Given the description of an element on the screen output the (x, y) to click on. 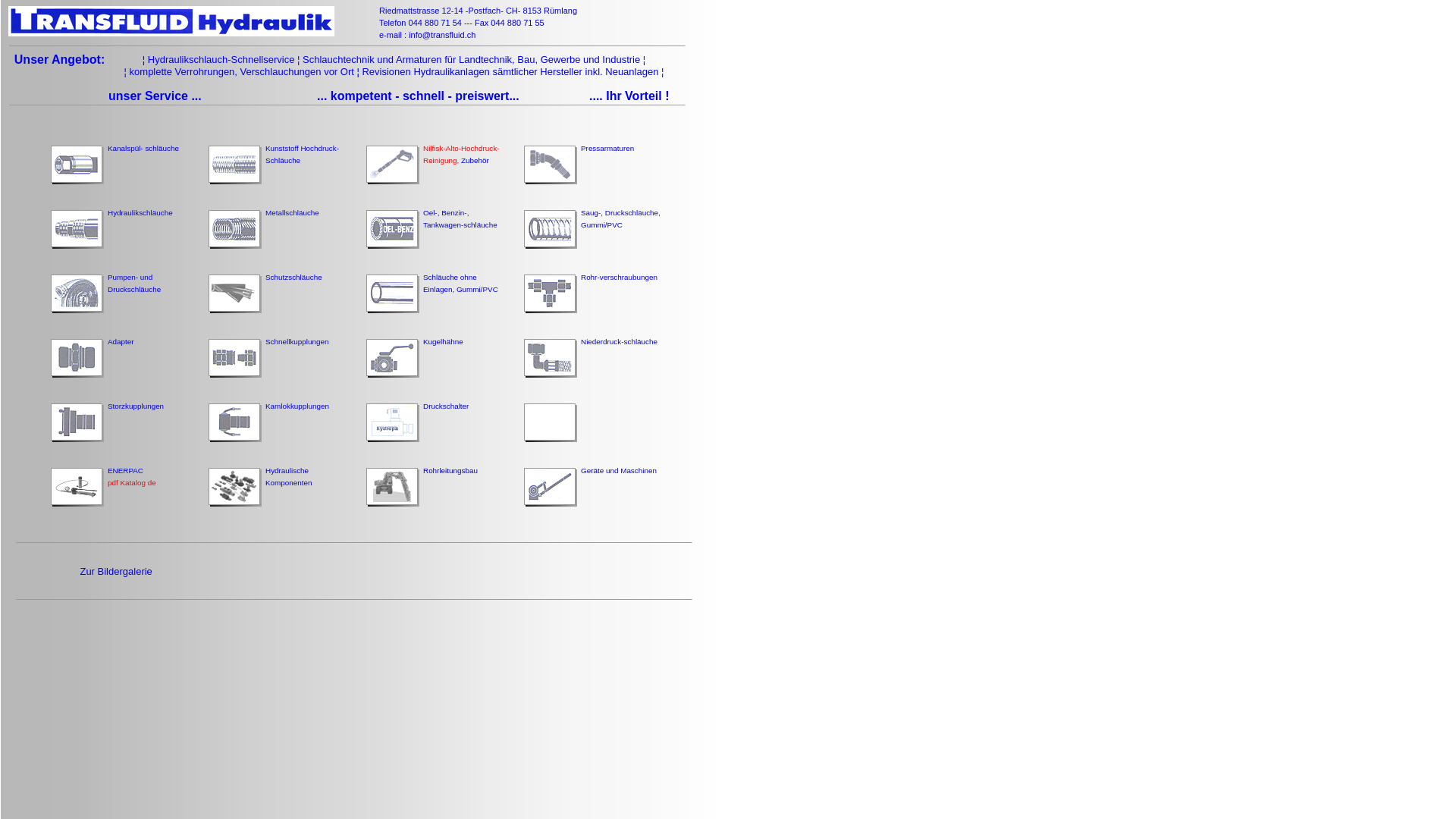
info@transfluid.ch Element type: text (440, 34)
Rohrleitungsbau Element type: text (450, 470)
Druckschalter Element type: text (445, 405)
Adapter Element type: text (120, 341)
Schnellkupplungen Element type: text (296, 341)
Pressarmaturen Element type: text (606, 148)
Rohr-verschraubungen Element type: text (618, 277)
Hydraulische Komponenten Element type: text (288, 476)
Zur Bildergalerie Element type: text (115, 577)
Kamlokkupplungen Element type: text (297, 405)
ENERPAC
pdf Katalog de Element type: text (131, 476)
Storzkupplungen Element type: text (135, 405)
Nilfisk-Alto-Hochdruck-Reinigung, Element type: text (460, 154)
